Given the description of an element on the screen output the (x, y) to click on. 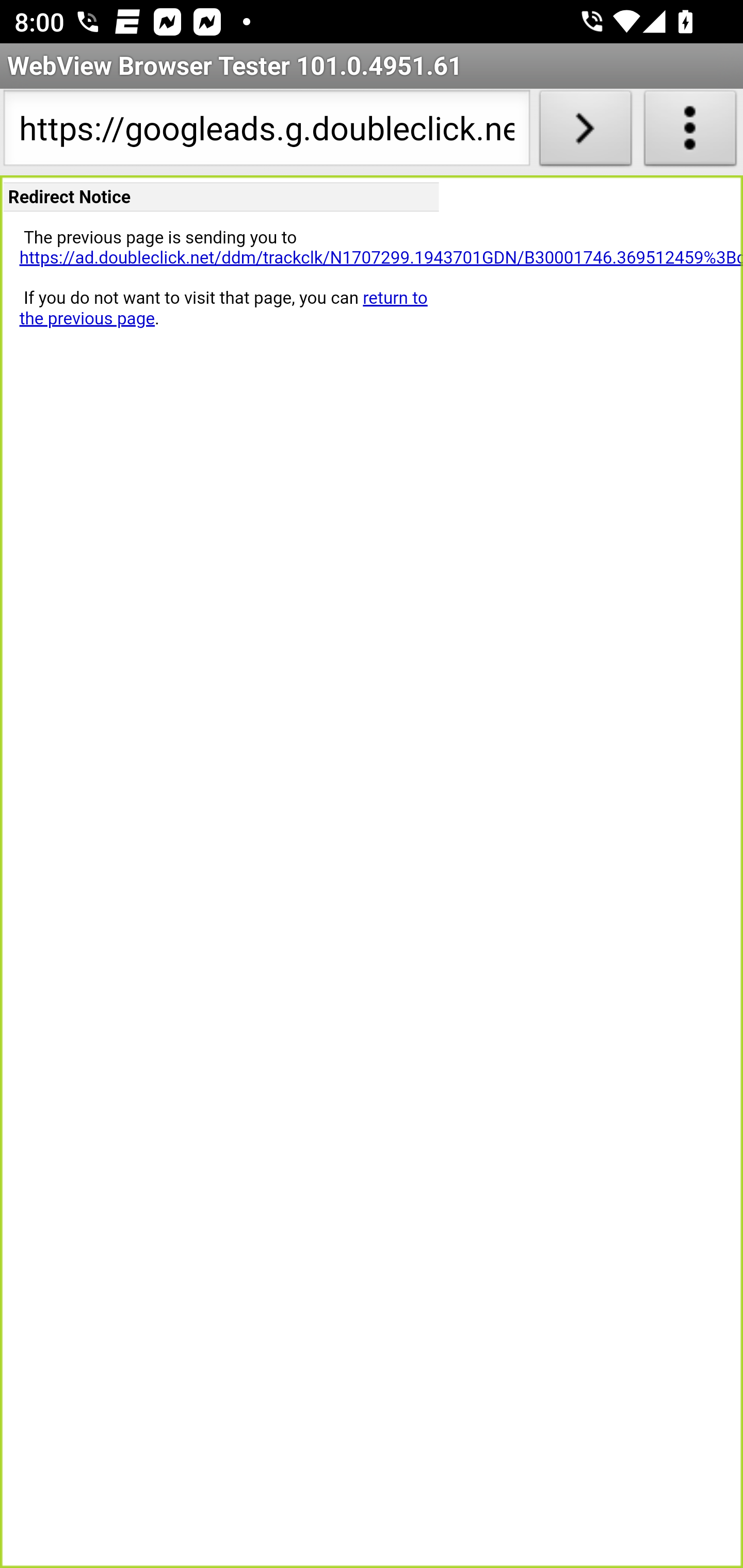
Load URL (585, 132)
About WebView (690, 132)
return to the previous page (222, 307)
